Given the description of an element on the screen output the (x, y) to click on. 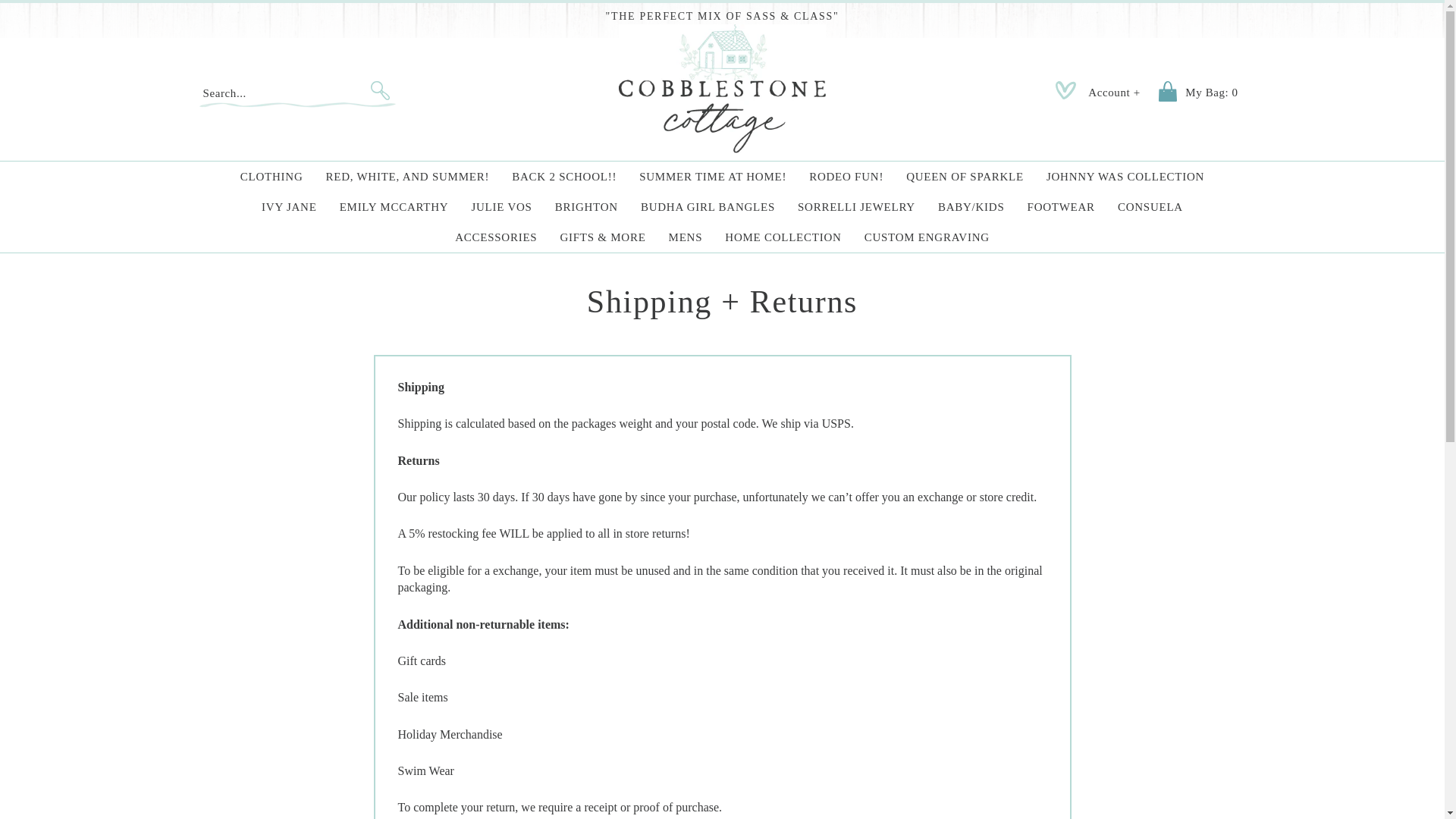
RODEO FUN! (846, 176)
My Account (1113, 92)
CLOTHING (271, 176)
RED, WHITE, AND SUMMER! (407, 176)
SUMMER TIME AT HOME! (712, 176)
IVY JANE (289, 206)
EMILY MCCARTHY (394, 206)
BACK 2 SCHOOL!! (563, 176)
QUEEN OF SPARKLE (965, 176)
JOHNNY WAS COLLECTION (1125, 176)
